Given the description of an element on the screen output the (x, y) to click on. 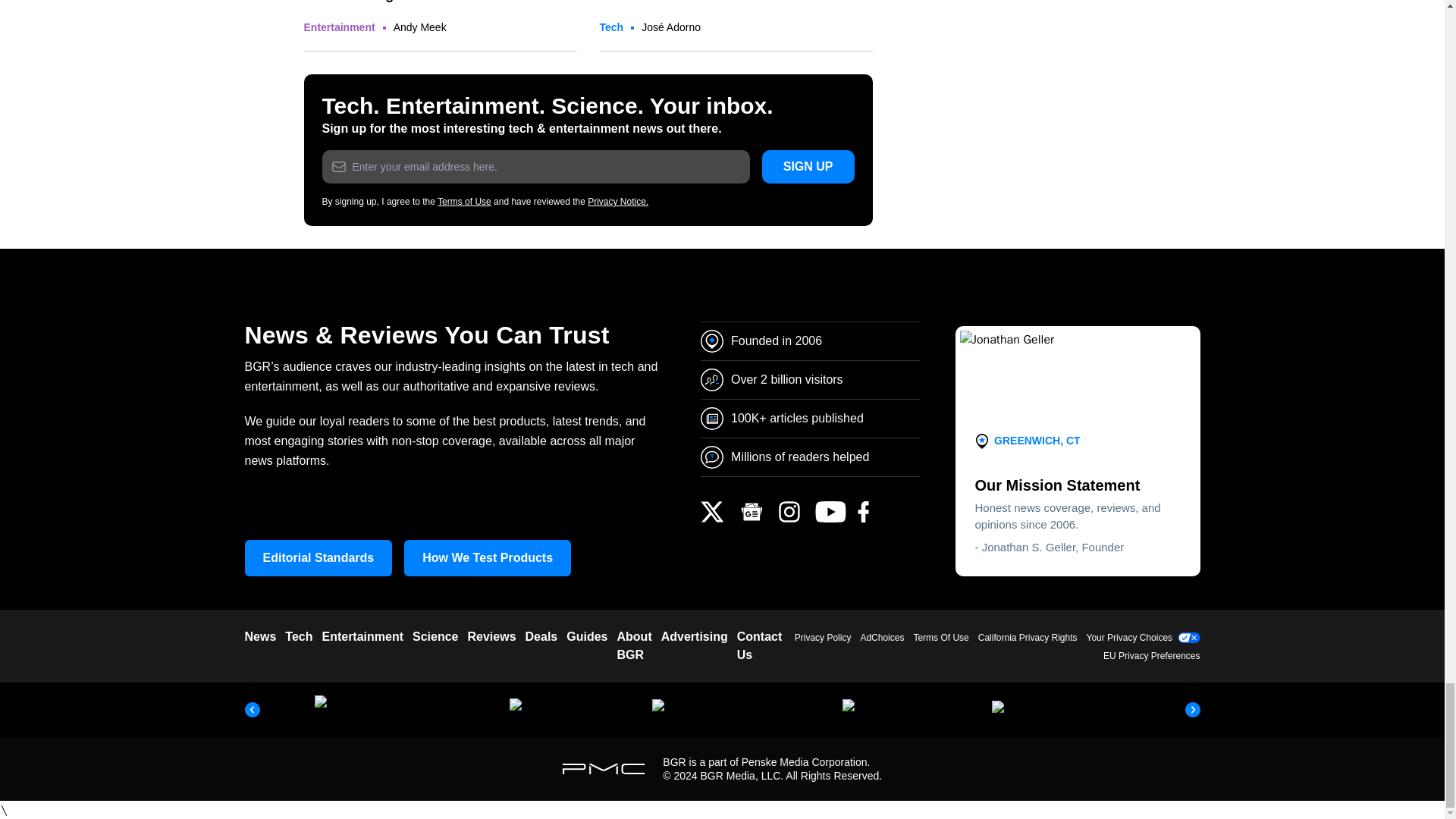
Posts by Andy Meek (419, 27)
